Given the description of an element on the screen output the (x, y) to click on. 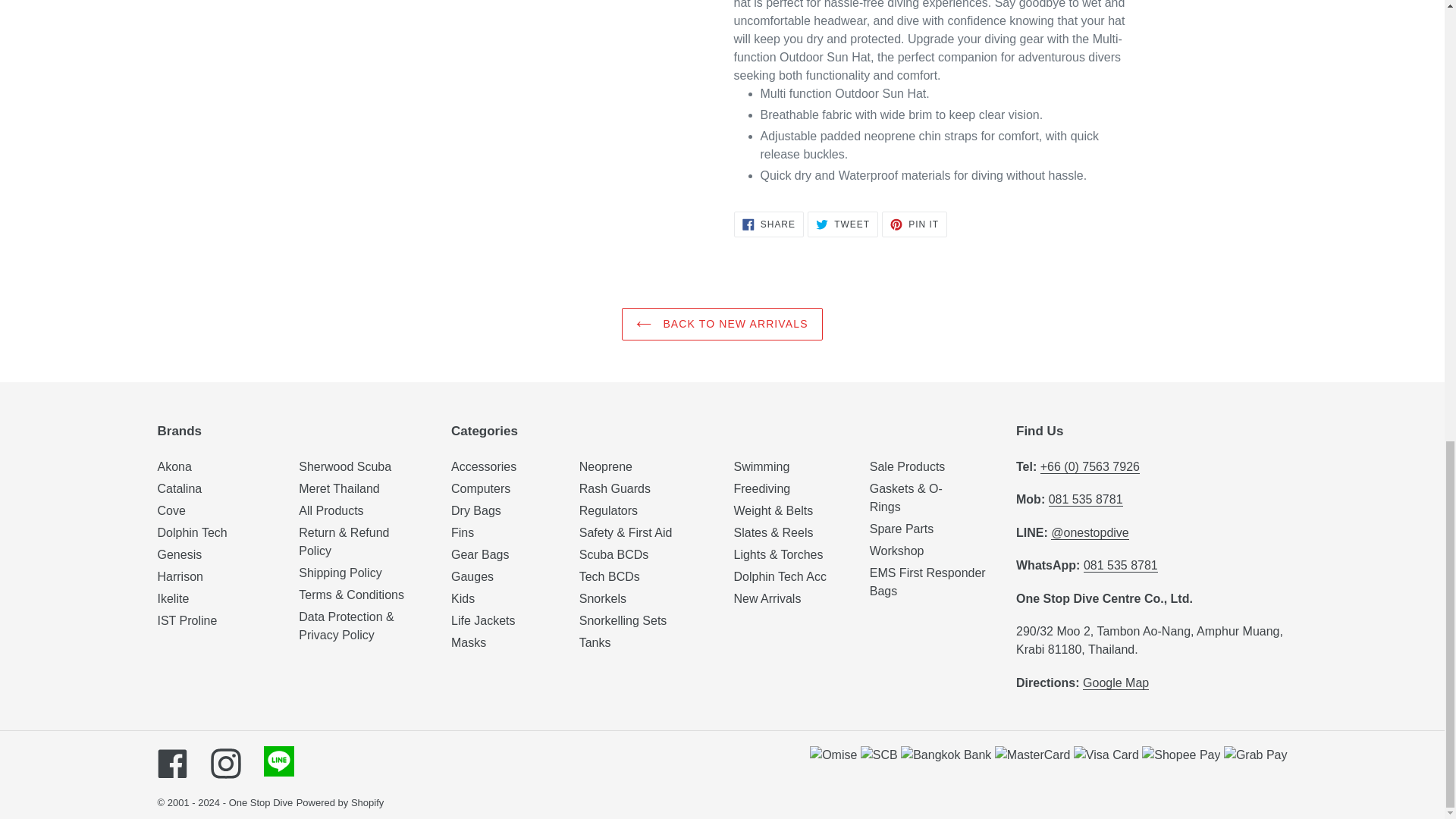
Use WhatsApp to Chat to our office directly (1120, 565)
tel:0815358781 (1085, 499)
